Given the description of an element on the screen output the (x, y) to click on. 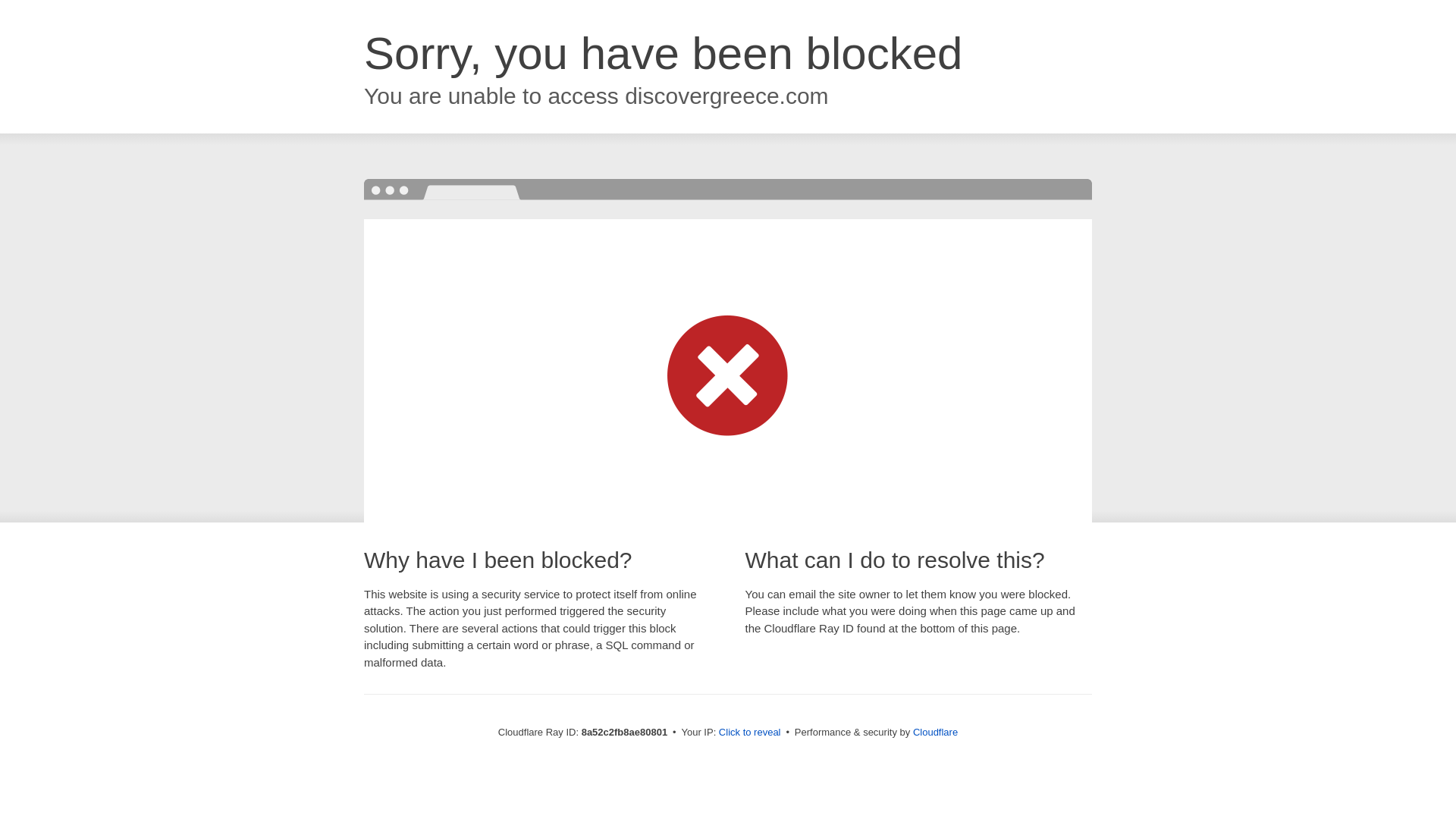
Cloudflare (935, 731)
Click to reveal (749, 732)
